Given the description of an element on the screen output the (x, y) to click on. 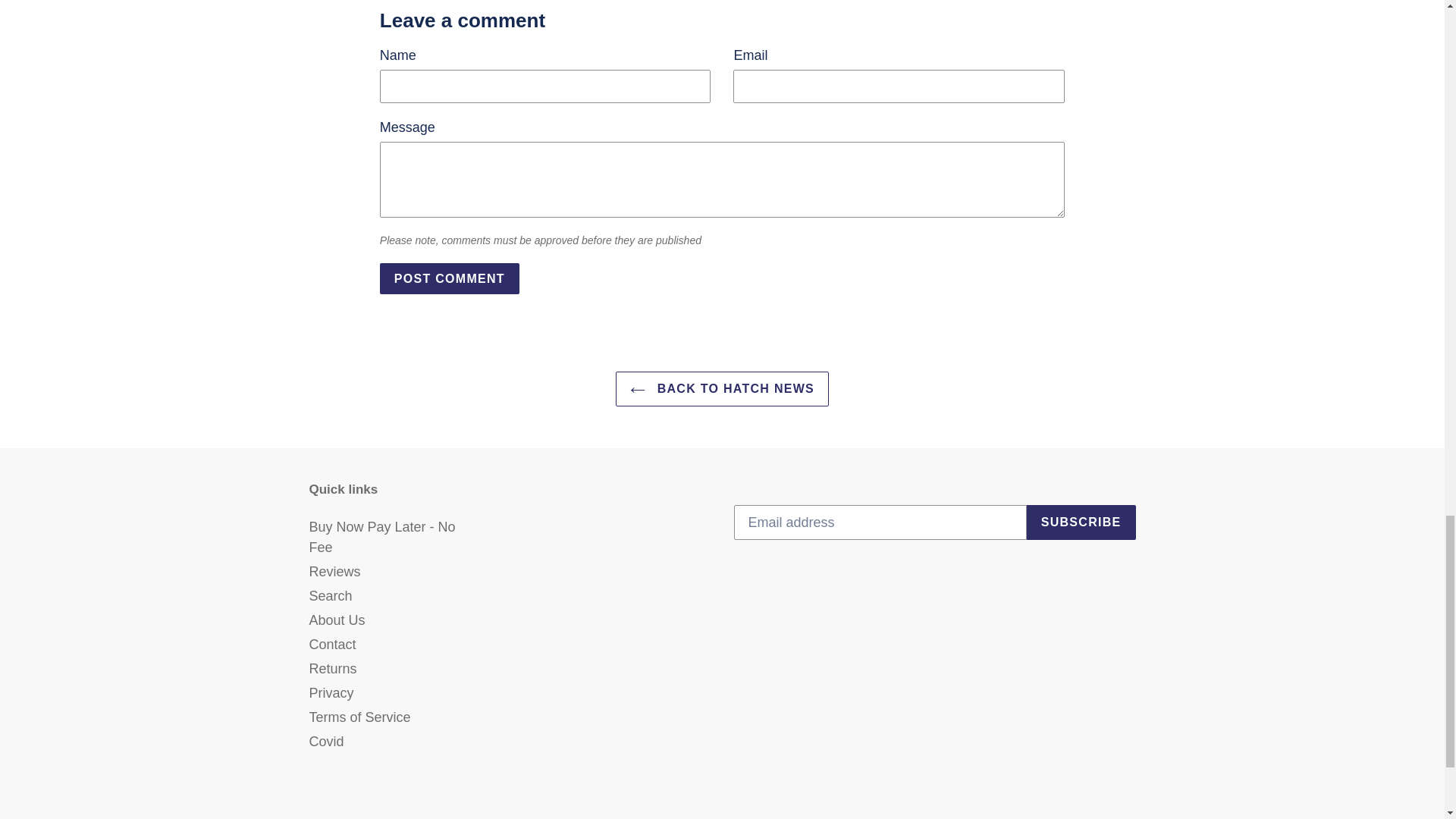
Buy Now Pay Later - No Fee (381, 537)
Post comment (449, 278)
Search (330, 595)
BACK TO HATCH NEWS (721, 388)
Post comment (449, 278)
Reviews (334, 571)
